Given the description of an element on the screen output the (x, y) to click on. 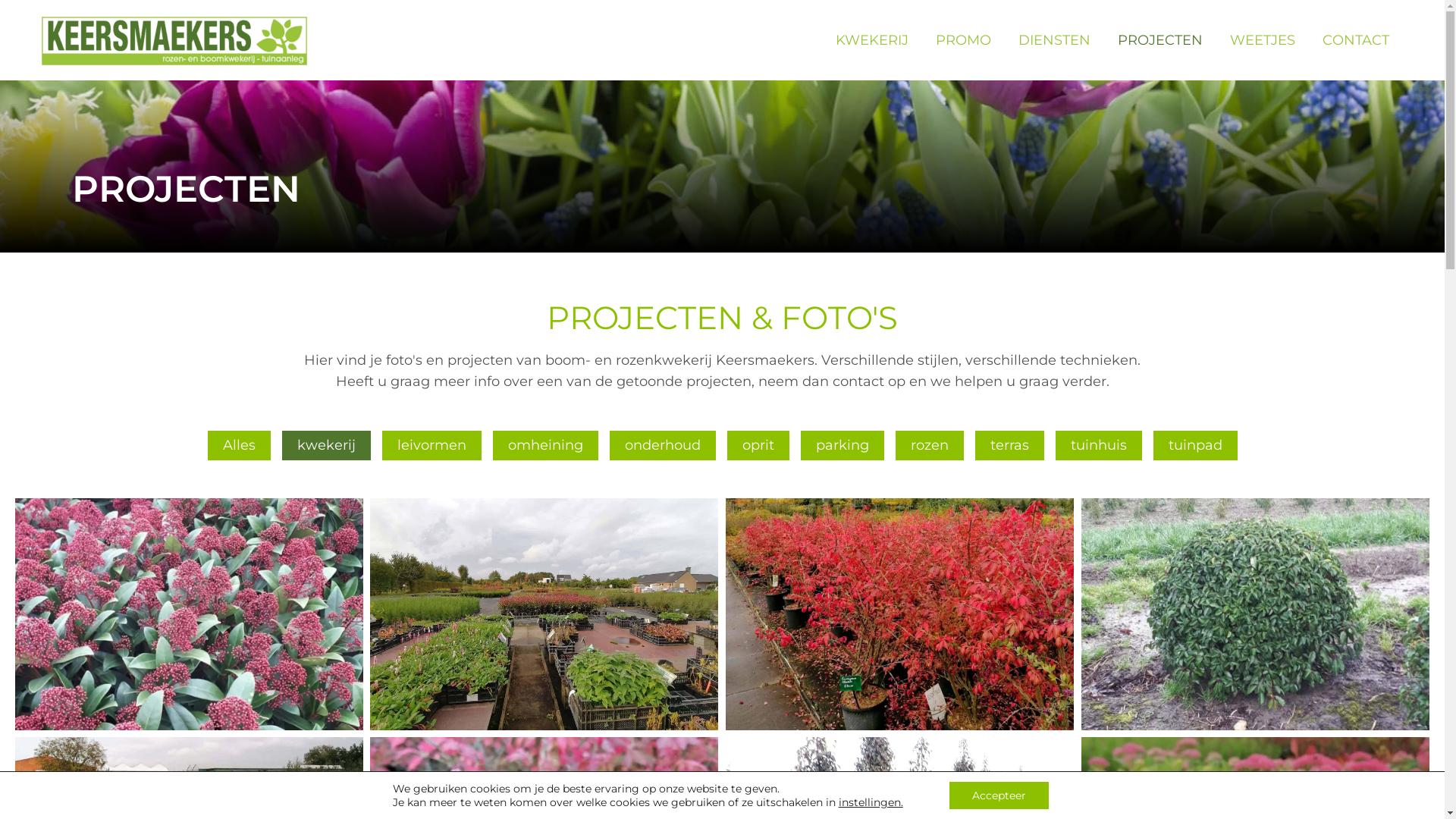
KWEKERIJ Element type: text (872, 39)
DIENSTEN Element type: text (1054, 39)
instellingen. Element type: text (870, 802)
plantencentrum Antwerpen Element type: hover (544, 614)
bloemen Element type: hover (189, 614)
CONTACT Element type: text (1355, 39)
Accepteer Element type: text (998, 795)
struik Element type: hover (1255, 614)
WEETJES Element type: text (1262, 39)
PROMO Element type: text (963, 39)
rode planten Element type: hover (899, 614)
PROJECTEN Element type: text (1160, 39)
